Given the description of an element on the screen output the (x, y) to click on. 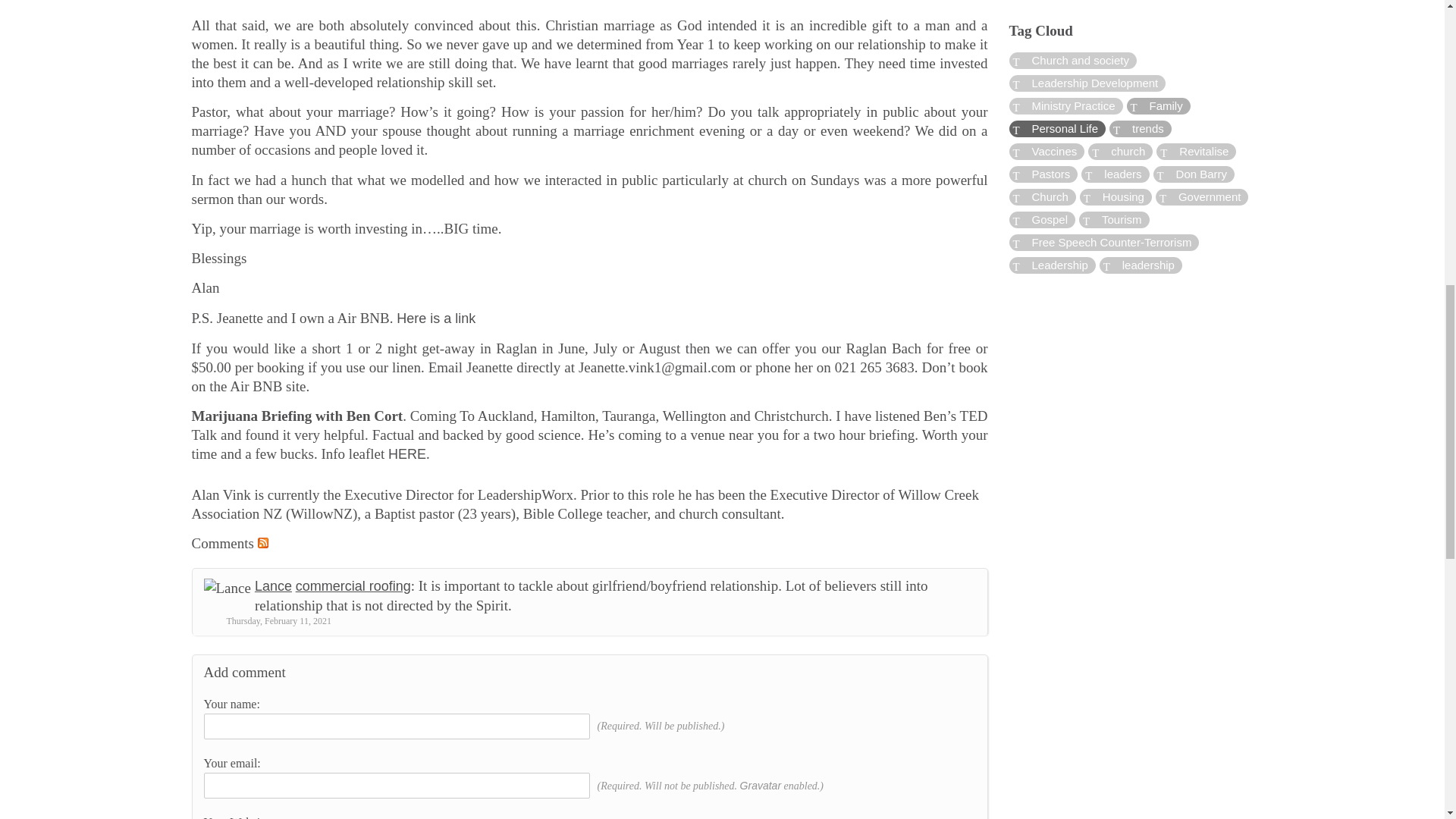
Lance (273, 585)
Gravatar (759, 785)
Your email: (396, 785)
Here is a link (436, 318)
HERE (407, 453)
Your name: (396, 726)
commercial roofing (352, 585)
